Given the description of an element on the screen output the (x, y) to click on. 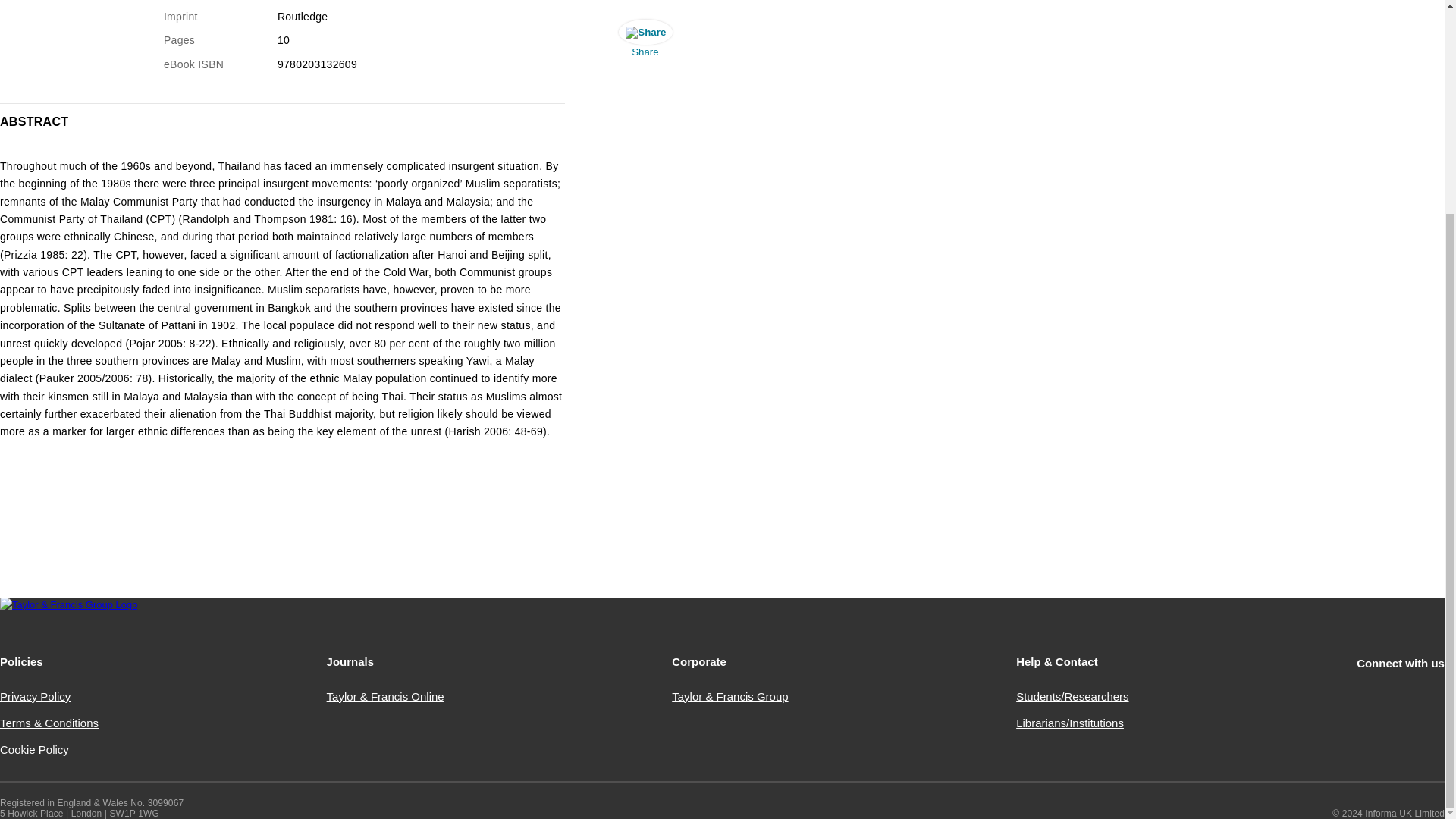
Cookie Policy (34, 749)
Share (644, 41)
Privacy Policy (34, 696)
